Given the description of an element on the screen output the (x, y) to click on. 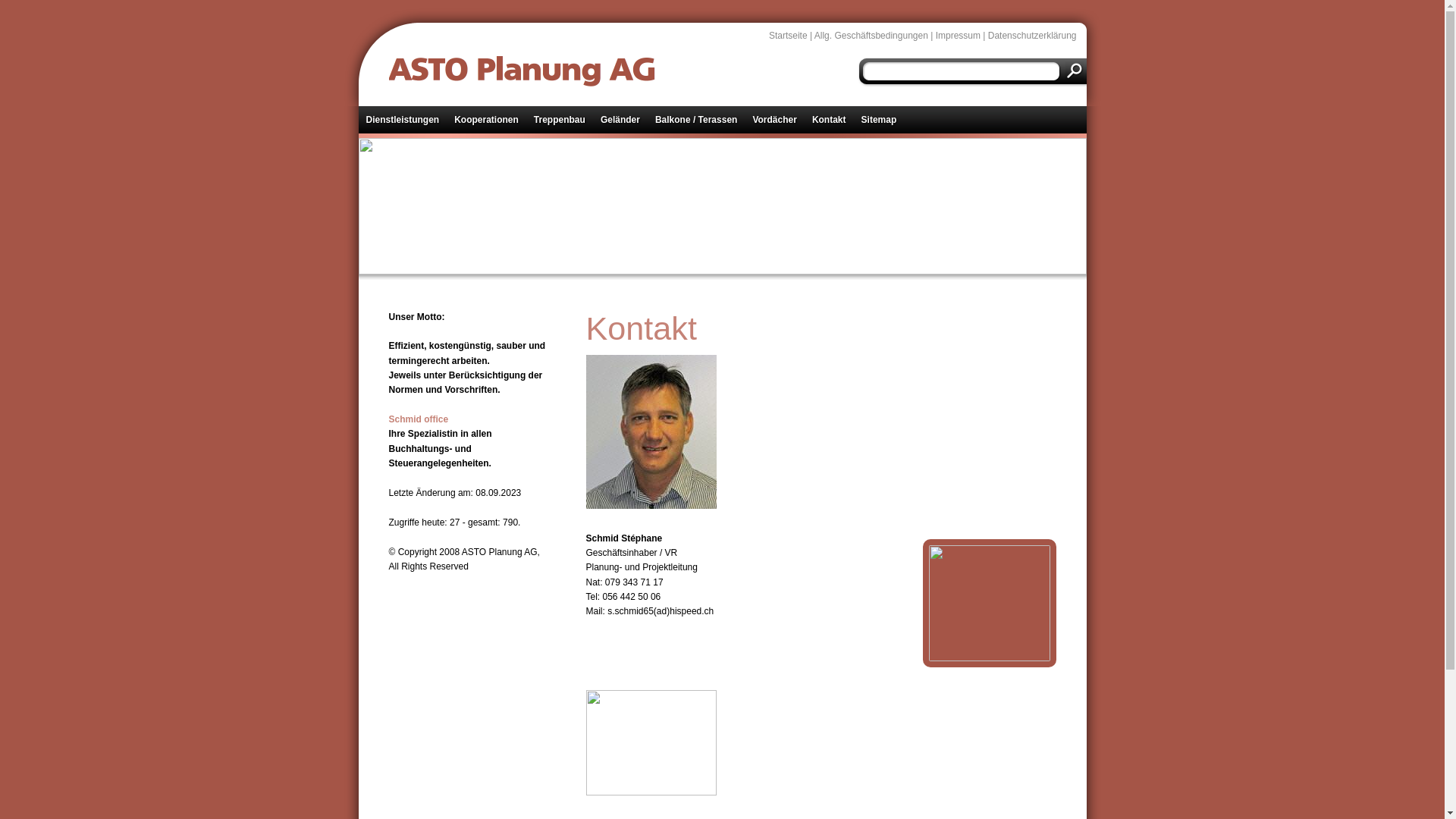
Balkone / Terassen Element type: text (696, 119)
Treppenbau Element type: text (559, 119)
Startseite Element type: text (787, 35)
Schmid office Element type: text (418, 419)
Dienstleistungen Element type: text (401, 119)
Kontakt Element type: text (828, 119)
Kooperationen Element type: text (486, 119)
Sitemap Element type: text (878, 119)
Impressum Element type: text (957, 35)
